Given the description of an element on the screen output the (x, y) to click on. 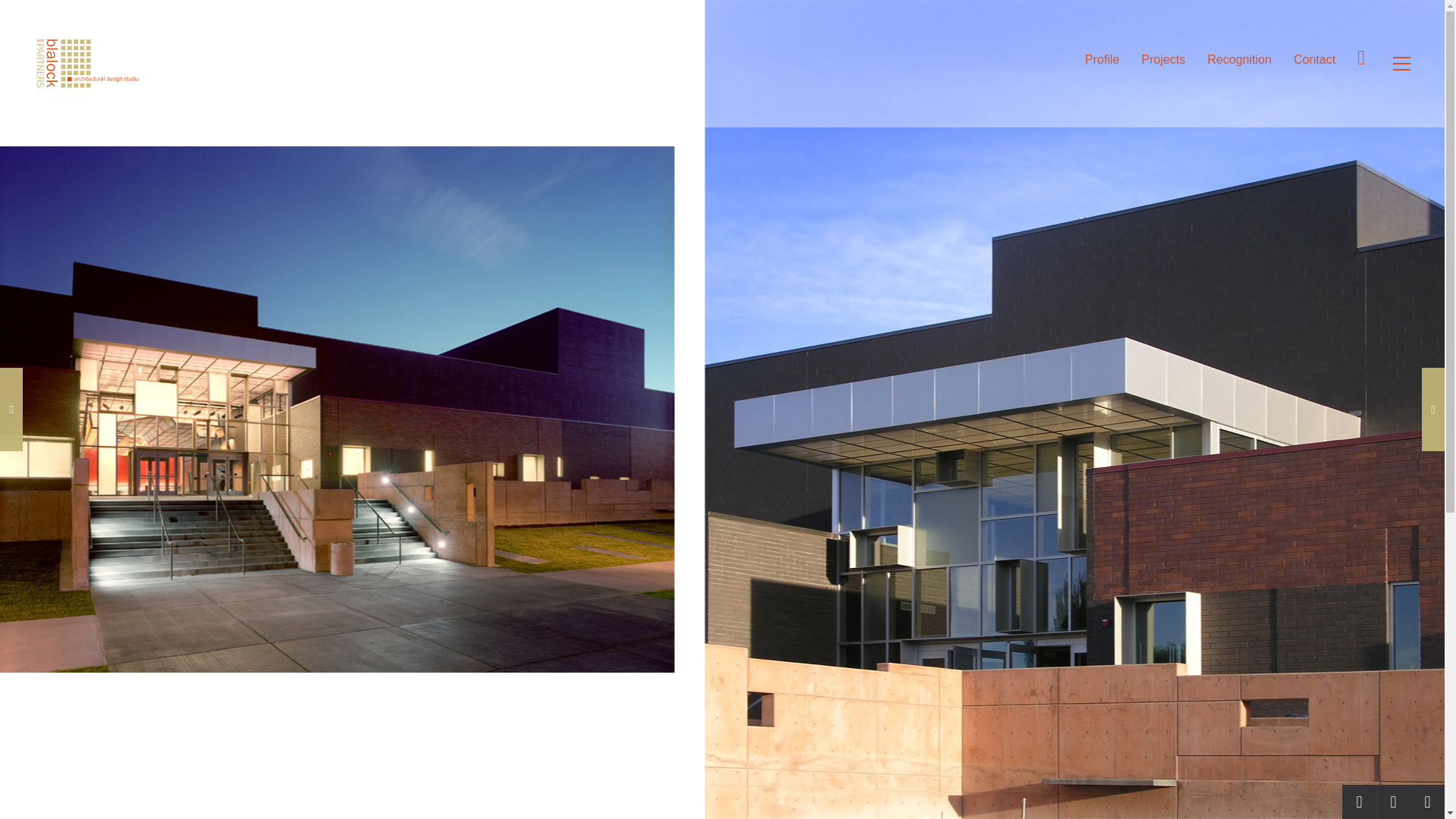
Profile (1101, 59)
Recognition (1239, 59)
Previous project (1358, 801)
Contact (1314, 59)
Projects (1163, 59)
Go to portfolio archive (1392, 801)
